Given the description of an element on the screen output the (x, y) to click on. 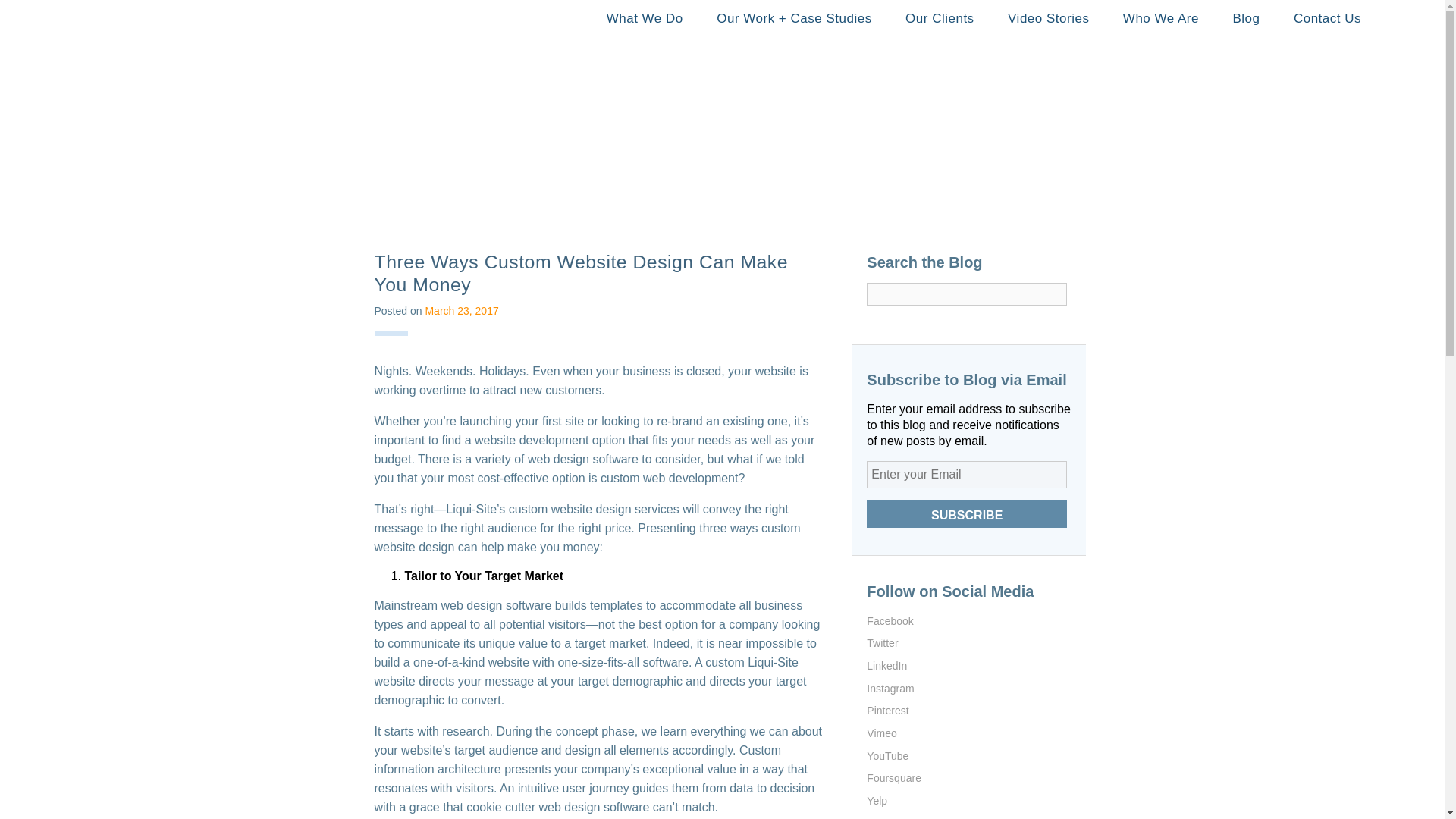
Video Stories (1047, 18)
What We Do (644, 18)
Three Ways Custom Website Design Can Make You Money (581, 272)
Our Clients (939, 18)
Blog (1246, 18)
Who We Are (1161, 18)
10:27 am (461, 310)
Contact Us (1326, 18)
Search (878, 314)
March 23, 2017 (461, 310)
